Given the description of an element on the screen output the (x, y) to click on. 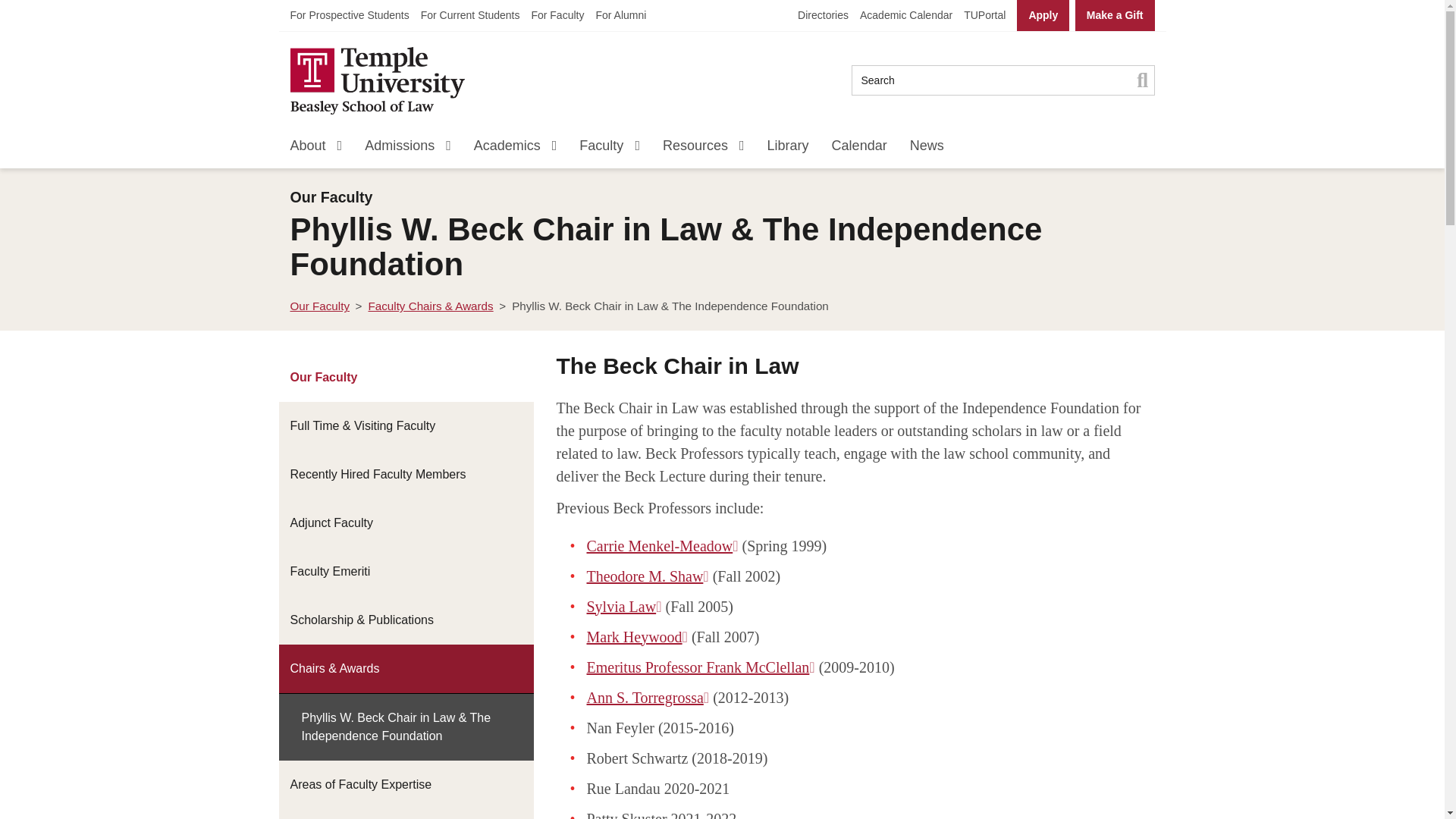
Alumni Dashboard (620, 15)
Make a Gift (1114, 15)
Academic Calendar (906, 15)
For Current Students (469, 15)
For Prospective Students (349, 15)
Academics (507, 148)
Make a Gift (1114, 15)
For Faculty (557, 15)
About Menu (334, 148)
For Alumni (620, 15)
TUPortal (984, 15)
About (306, 148)
Apply (1042, 15)
Academic Calendar (906, 15)
Learn About Temple Law School (306, 148)
